Given the description of an element on the screen output the (x, y) to click on. 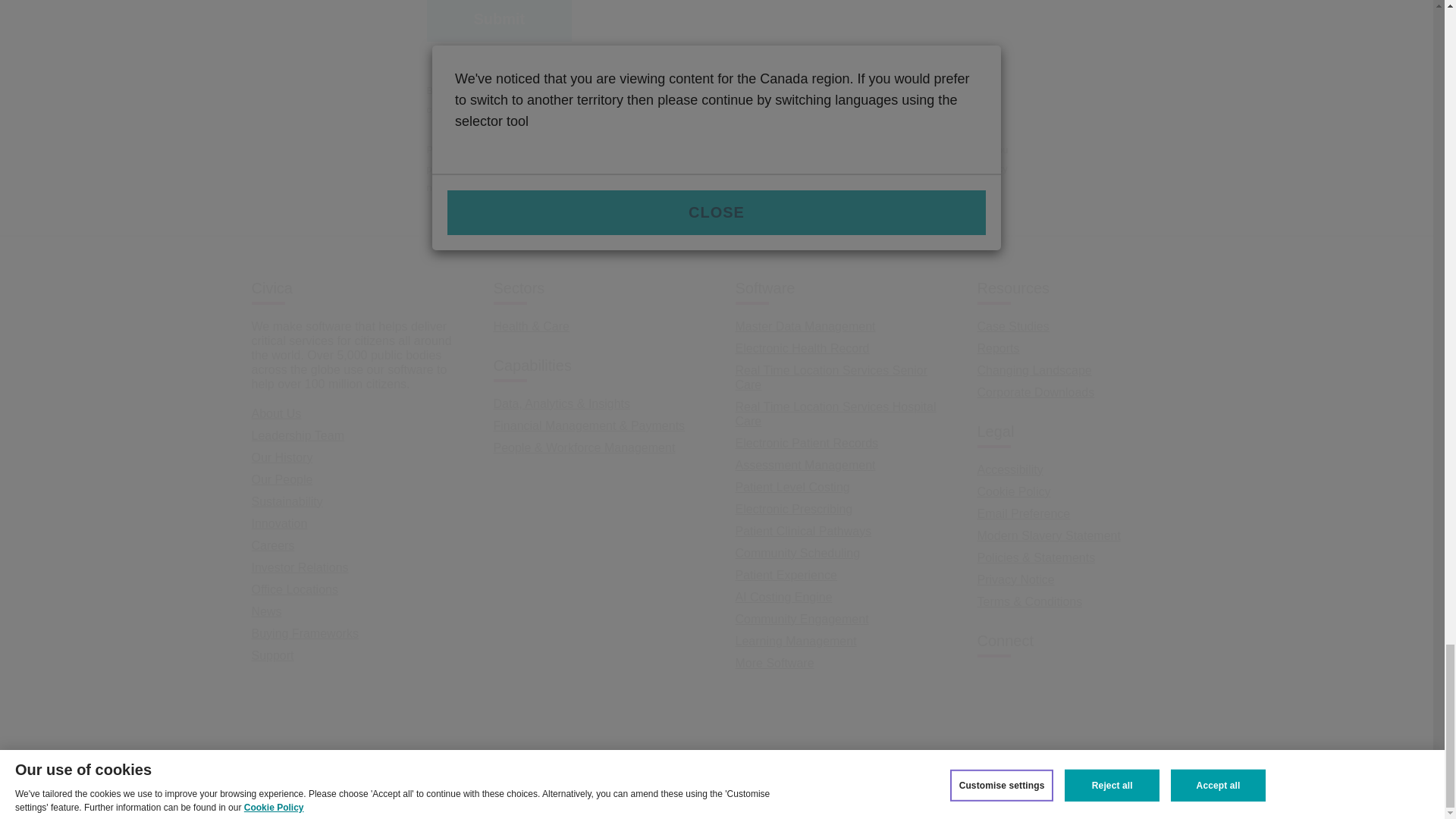
Our History (282, 456)
About Us (276, 412)
Office Locations (294, 588)
Electronic Health Record (802, 347)
Support (272, 655)
Data Privacy Notice - Link opens in a new tab (468, 187)
Master Data Management (805, 326)
News (266, 611)
Innovation (279, 522)
Civica Email Preference Centre - link opens in a new tab (933, 108)
Sustainability (287, 500)
Buying Frameworks (304, 632)
Submit (499, 20)
Careers (273, 544)
Investor Relations (300, 567)
